Given the description of an element on the screen output the (x, y) to click on. 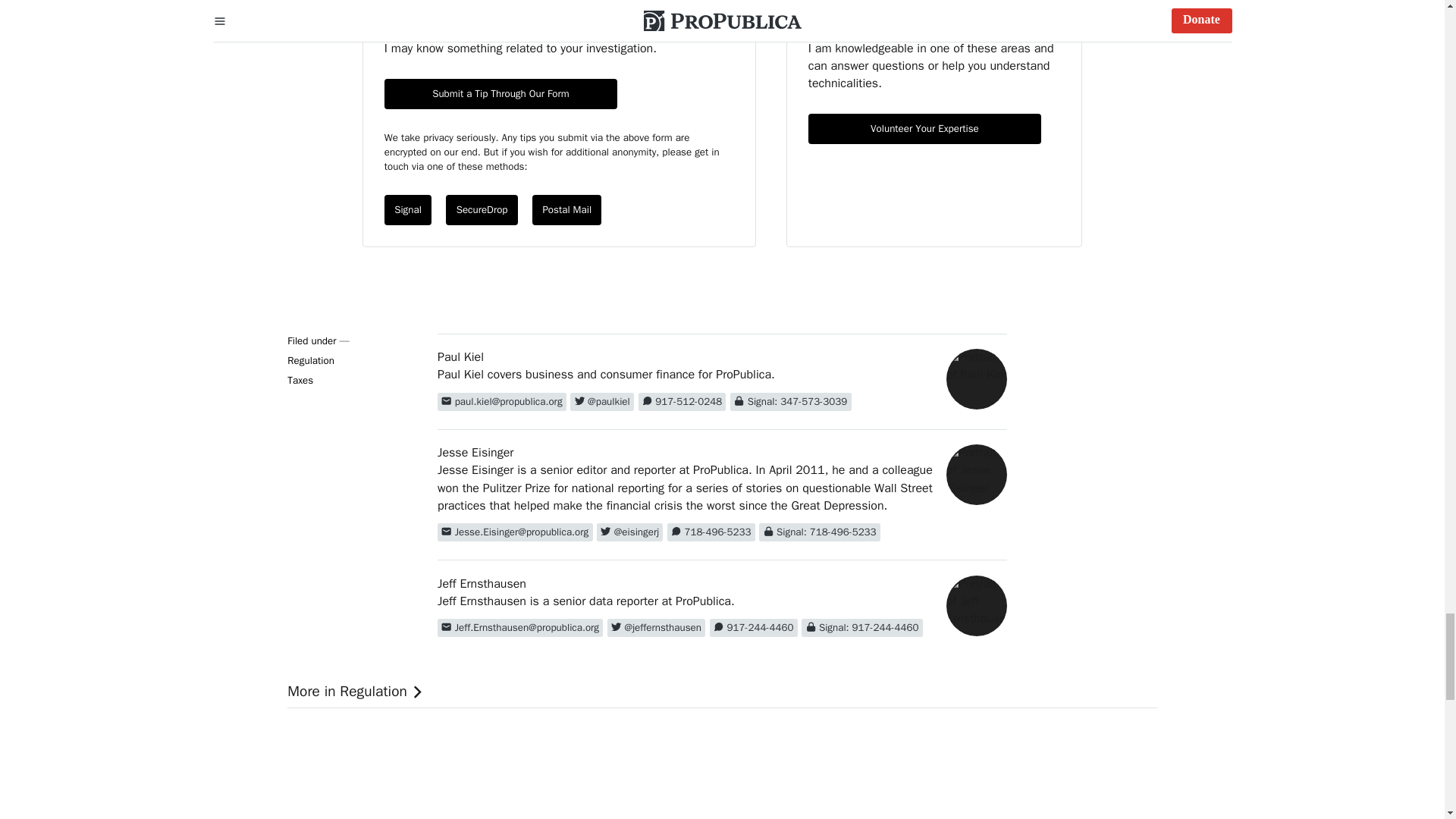
Phone (710, 532)
Twitter (629, 532)
Email (502, 402)
Submit a Tip Through Our Form (500, 93)
Twitter (655, 628)
Phone (753, 628)
Twitter (601, 402)
Email (515, 532)
Phone (682, 402)
Email (520, 628)
